Given the description of an element on the screen output the (x, y) to click on. 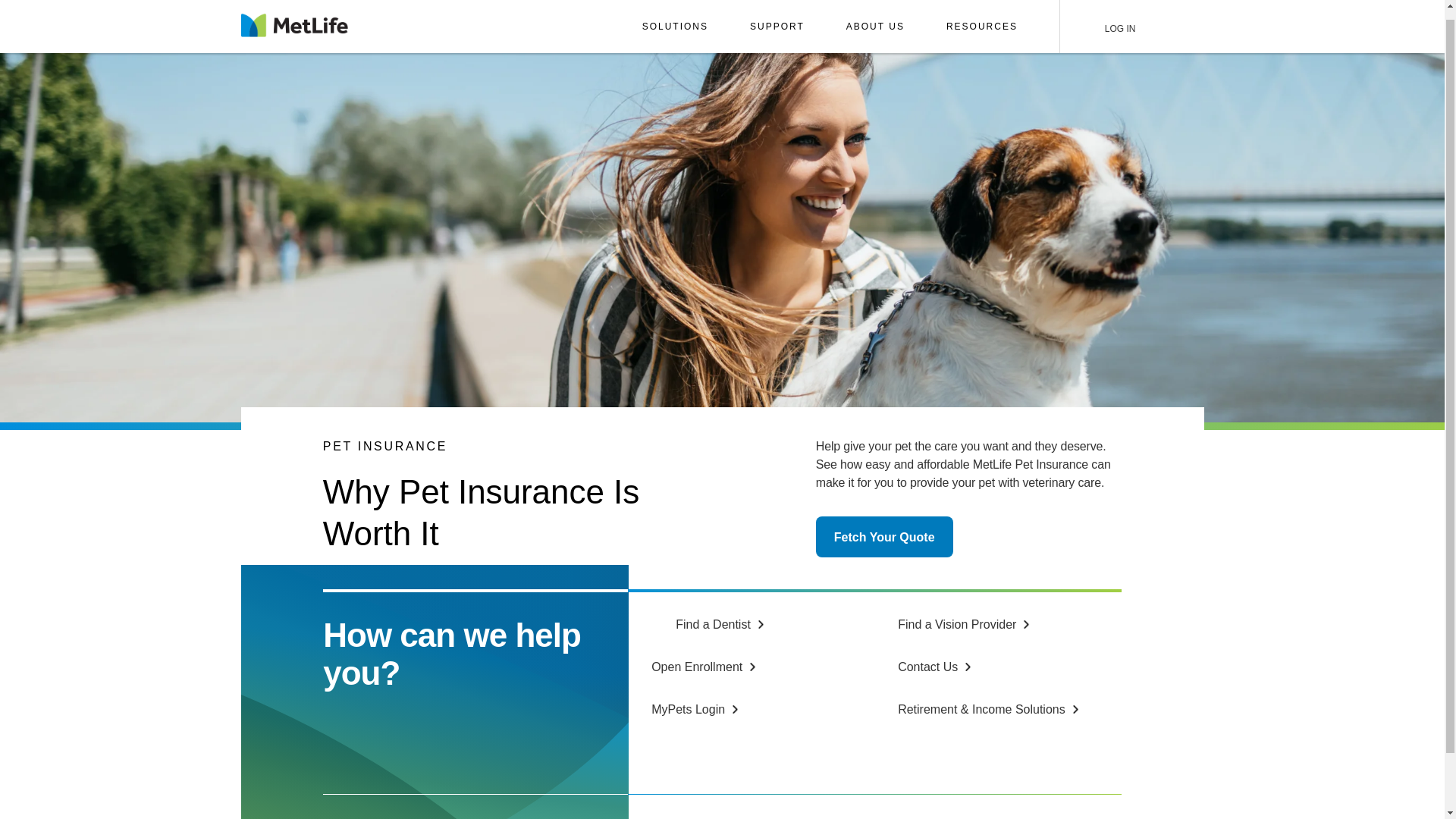
SEARCH (1171, 16)
LOG IN LOG IN (1112, 17)
LOG IN (1112, 16)
